Given the description of an element on the screen output the (x, y) to click on. 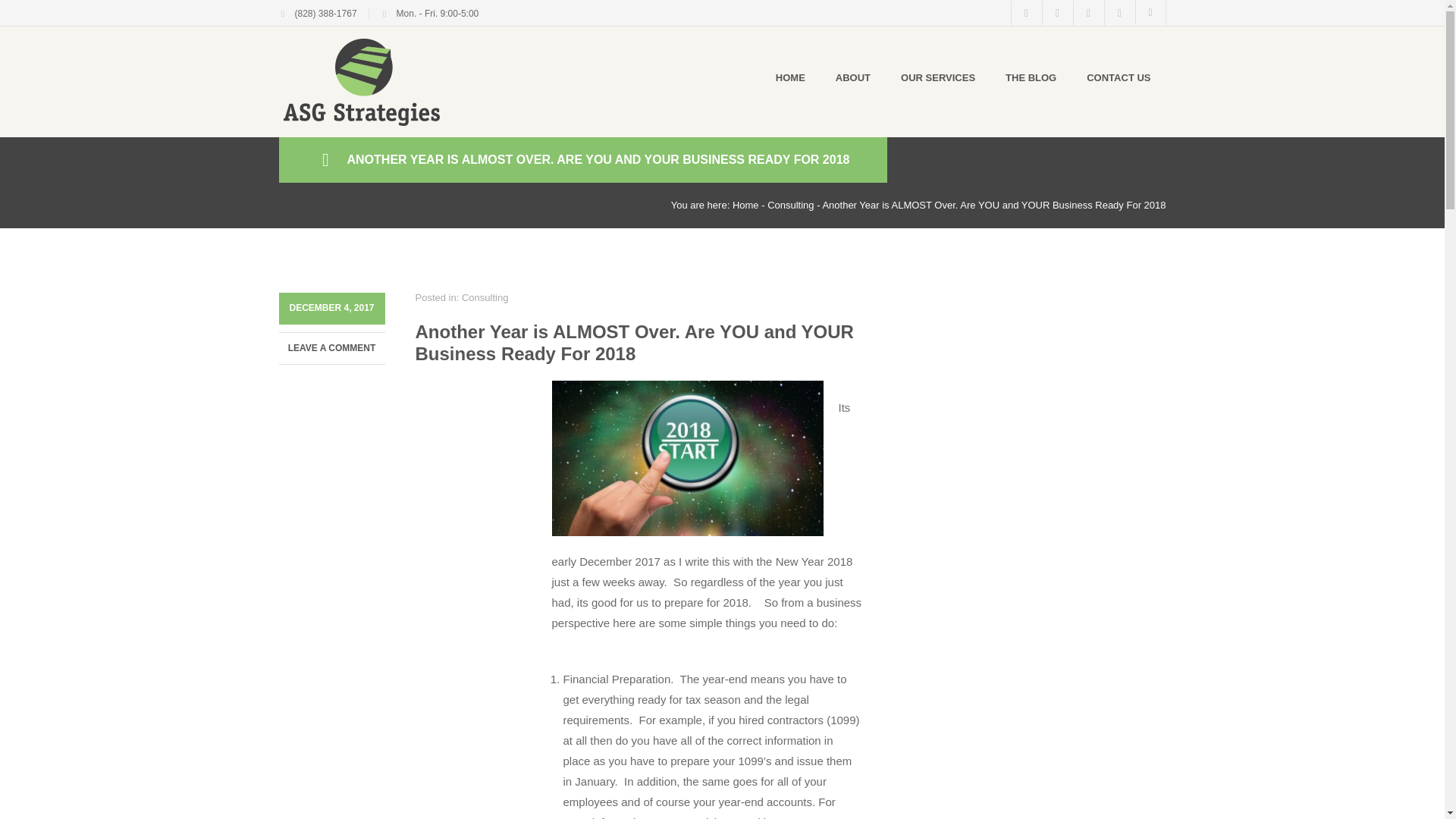
Consulting (484, 297)
Consulting (790, 204)
OUR SERVICES (937, 76)
Home (745, 204)
CONTACT US (1118, 76)
LEAVE A COMMENT (331, 347)
